Given the description of an element on the screen output the (x, y) to click on. 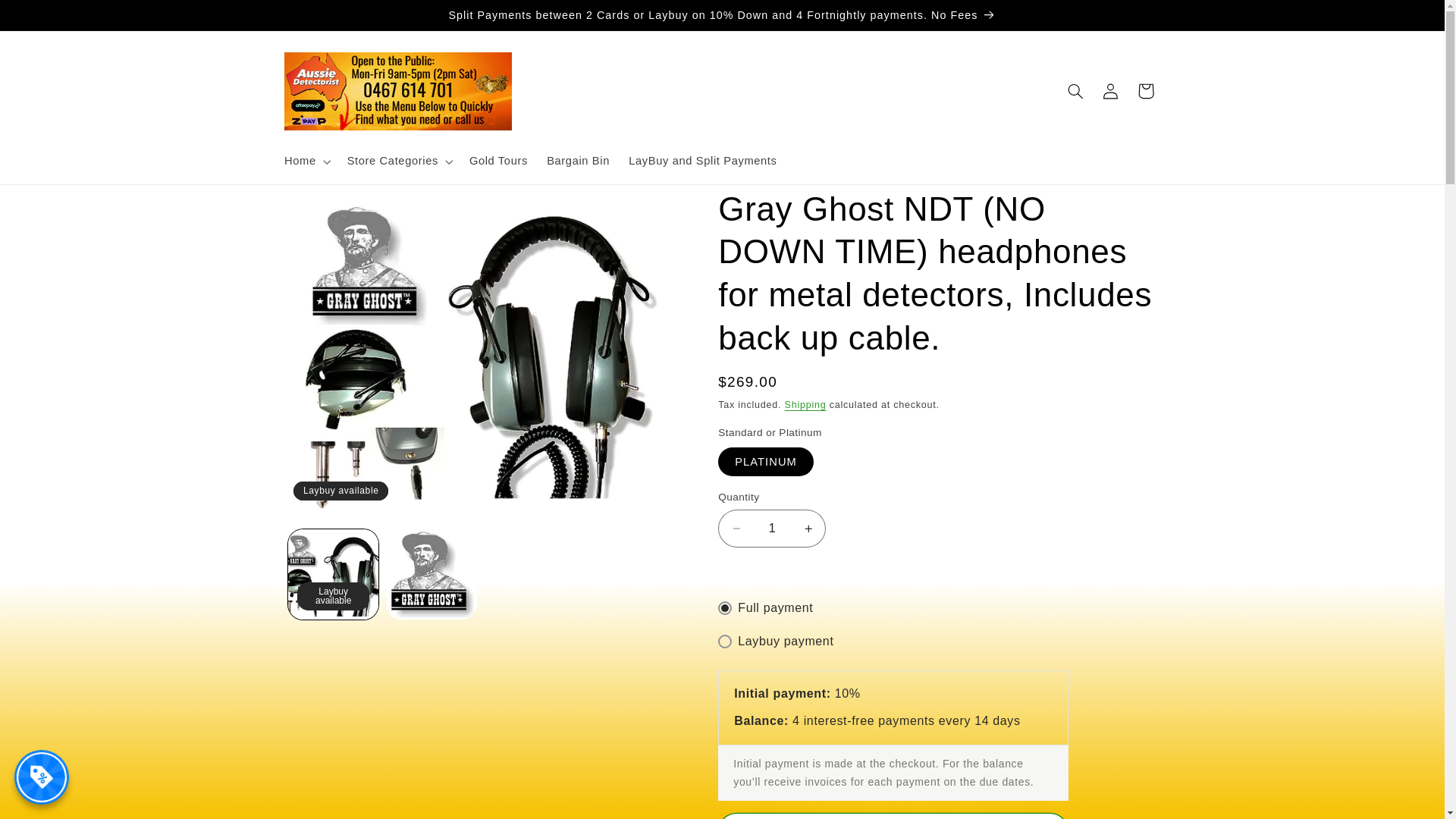
Cart Element type: text (1145, 90)
Skip to product information Element type: text (331, 205)
Shipping Element type: text (805, 404)
Gold Tours Element type: text (497, 161)
LayBuy and Split Payments Element type: text (703, 161)
Bargain Bin Element type: text (578, 161)
Log in Element type: text (1110, 90)
Laybuy available
Laybuy available Element type: text (333, 574)
